Given the description of an element on the screen output the (x, y) to click on. 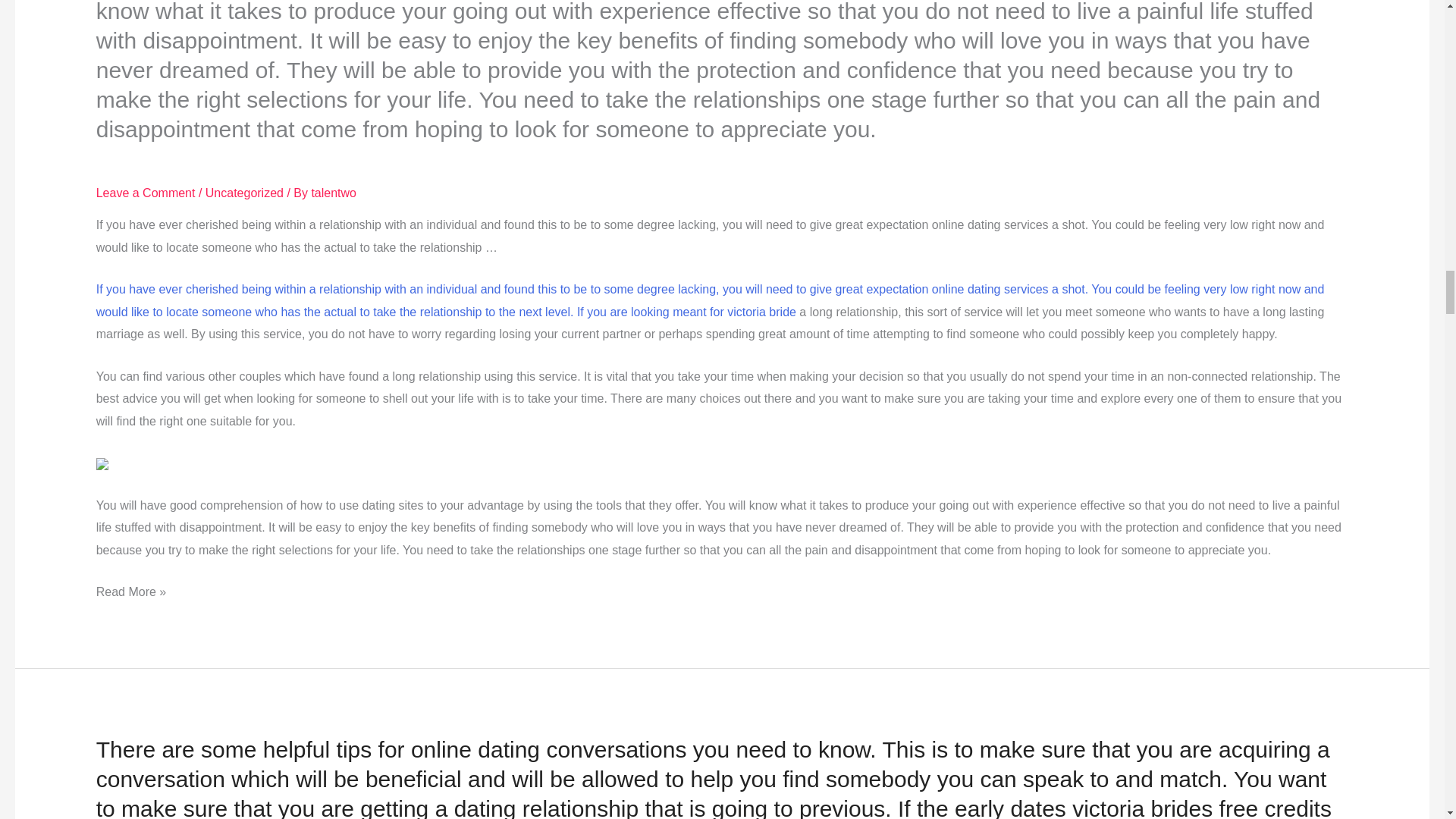
View all posts by talentwo (333, 192)
talentwo (333, 192)
Leave a Comment (145, 192)
Uncategorized (244, 192)
